Given the description of an element on the screen output the (x, y) to click on. 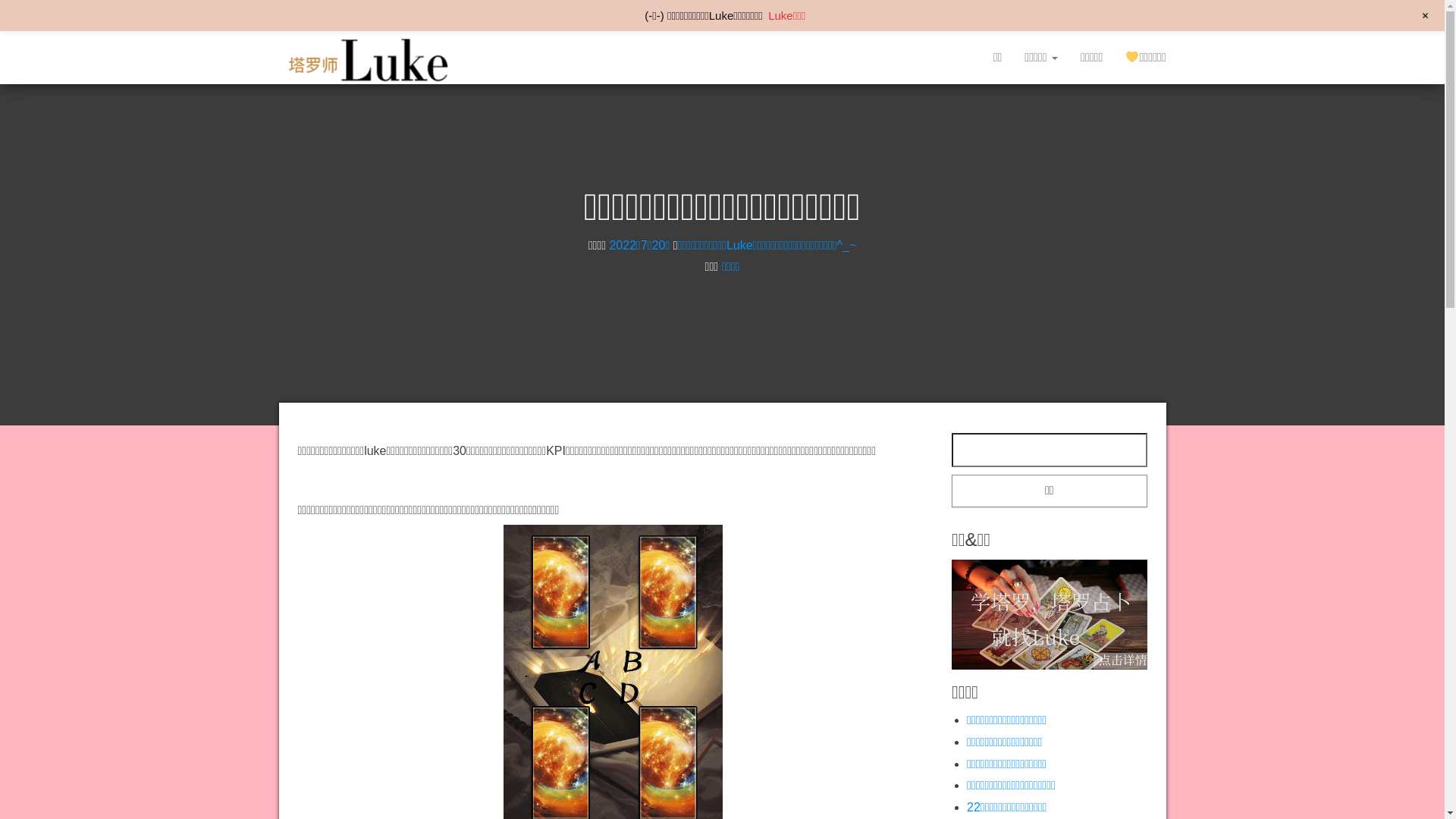
+ Element type: text (1425, 15)
TAROT&LUKE Element type: text (509, 40)
